Given the description of an element on the screen output the (x, y) to click on. 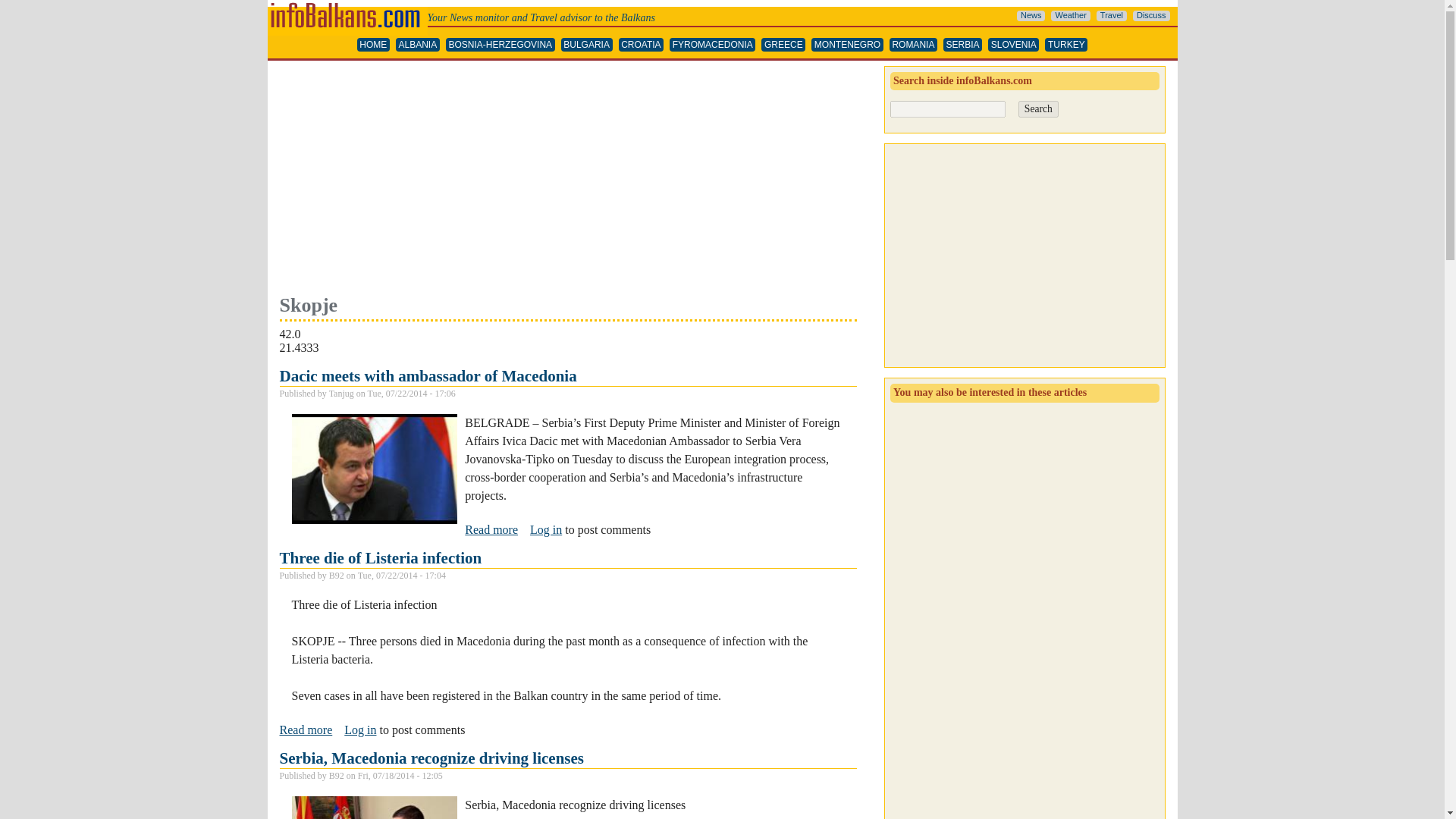
ROMANIA (491, 530)
Weather (913, 44)
Dacic meets with ambassador of Macedonia (1070, 15)
Serbia, Macedonia recognize driving licenses (491, 530)
News (431, 758)
Dacic meets with ambassador of Macedonia (1030, 15)
Skip to main content (427, 375)
Discuss (305, 730)
